Given the description of an element on the screen output the (x, y) to click on. 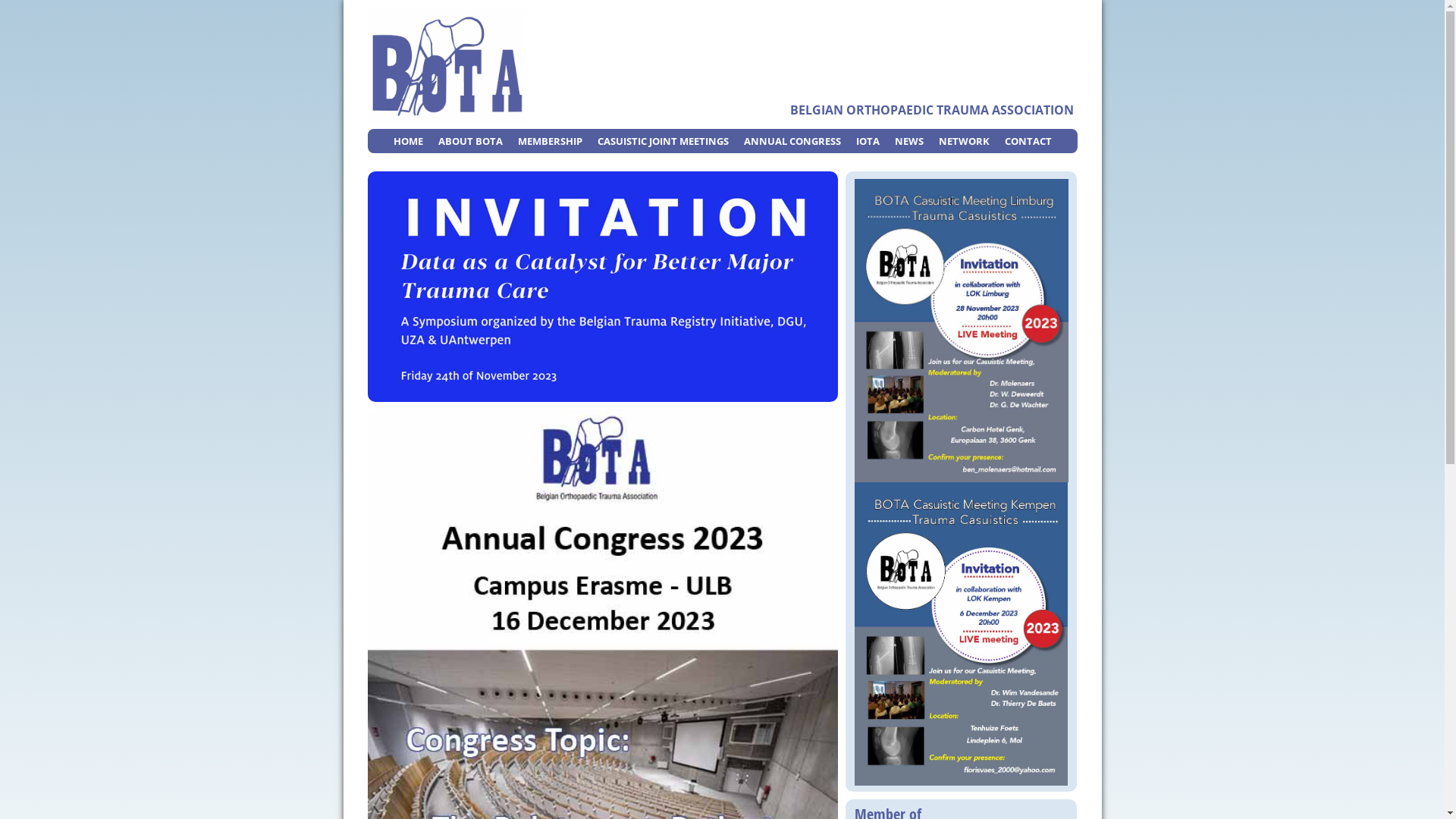
HOME Element type: text (407, 140)
IOTA Element type: text (866, 140)
ANNUAL CONGRESS Element type: text (791, 140)
CASUISTIC JOINT MEETINGS Element type: text (662, 140)
NEWS Element type: text (908, 140)
MEMBERSHIP Element type: text (549, 140)
CONTACT Element type: text (1027, 140)
ABOUT BOTA Element type: text (470, 140)
NETWORK Element type: text (963, 140)
